Given the description of an element on the screen output the (x, y) to click on. 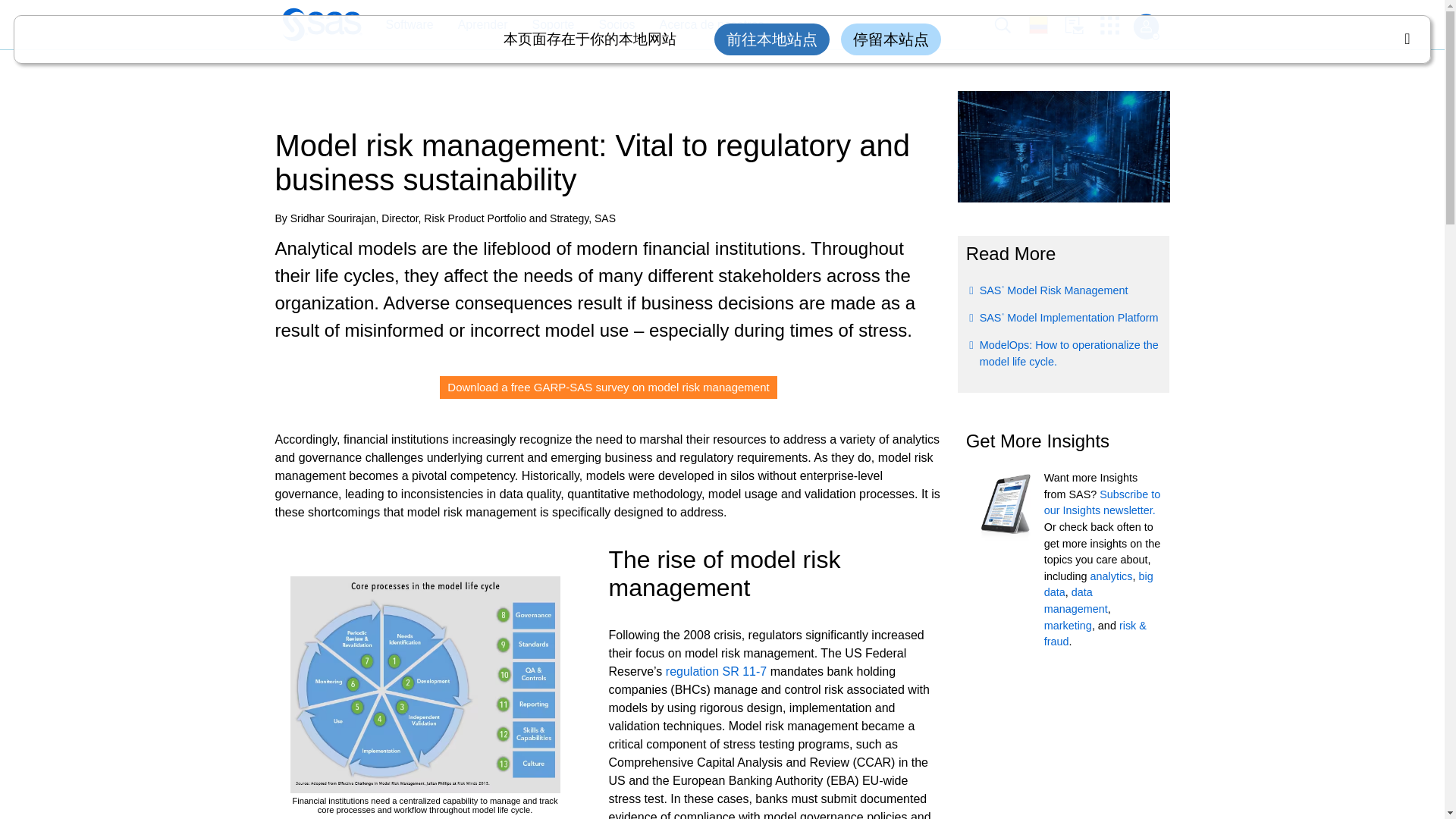
Aprender (475, 24)
Model Life Cycle (424, 684)
Buscar (1010, 25)
Sitios en todo el mundo (1046, 24)
Analytics Insights (1111, 576)
Aprender (482, 24)
Software (409, 24)
Subscribe to our Insights newesletter. (1101, 502)
Data Management Insights (1075, 600)
Sitios SAS (1114, 25)
Socios (609, 24)
Software (401, 24)
Soporte (545, 24)
Acerca de nosotros (711, 24)
